Given the description of an element on the screen output the (x, y) to click on. 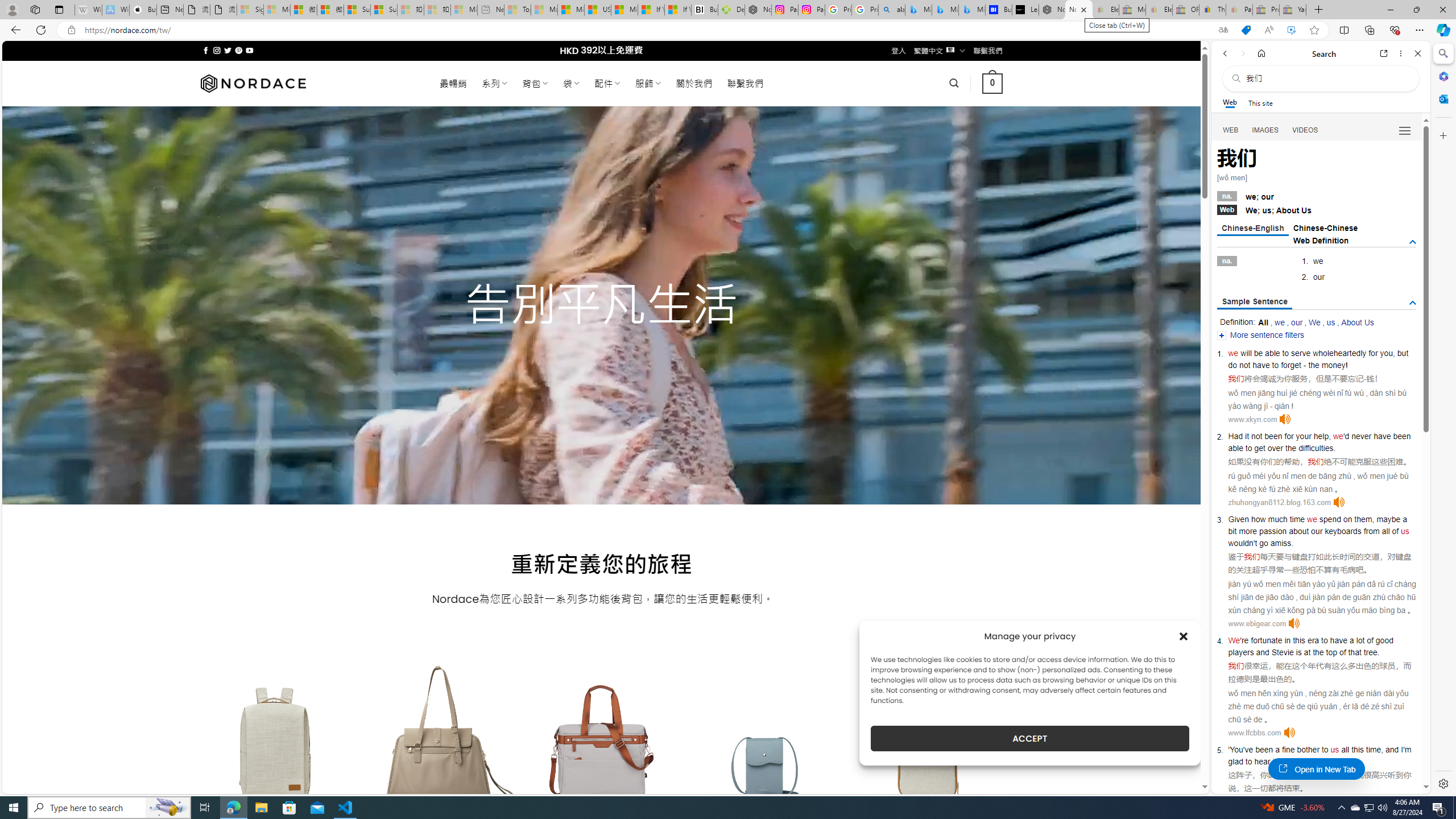
a (1277, 749)
keyboards (1342, 530)
Yard, Garden & Outdoor Living - Sleeping (1292, 9)
www.ebigear.com (1257, 623)
fortunate (1266, 640)
